Given the description of an element on the screen output the (x, y) to click on. 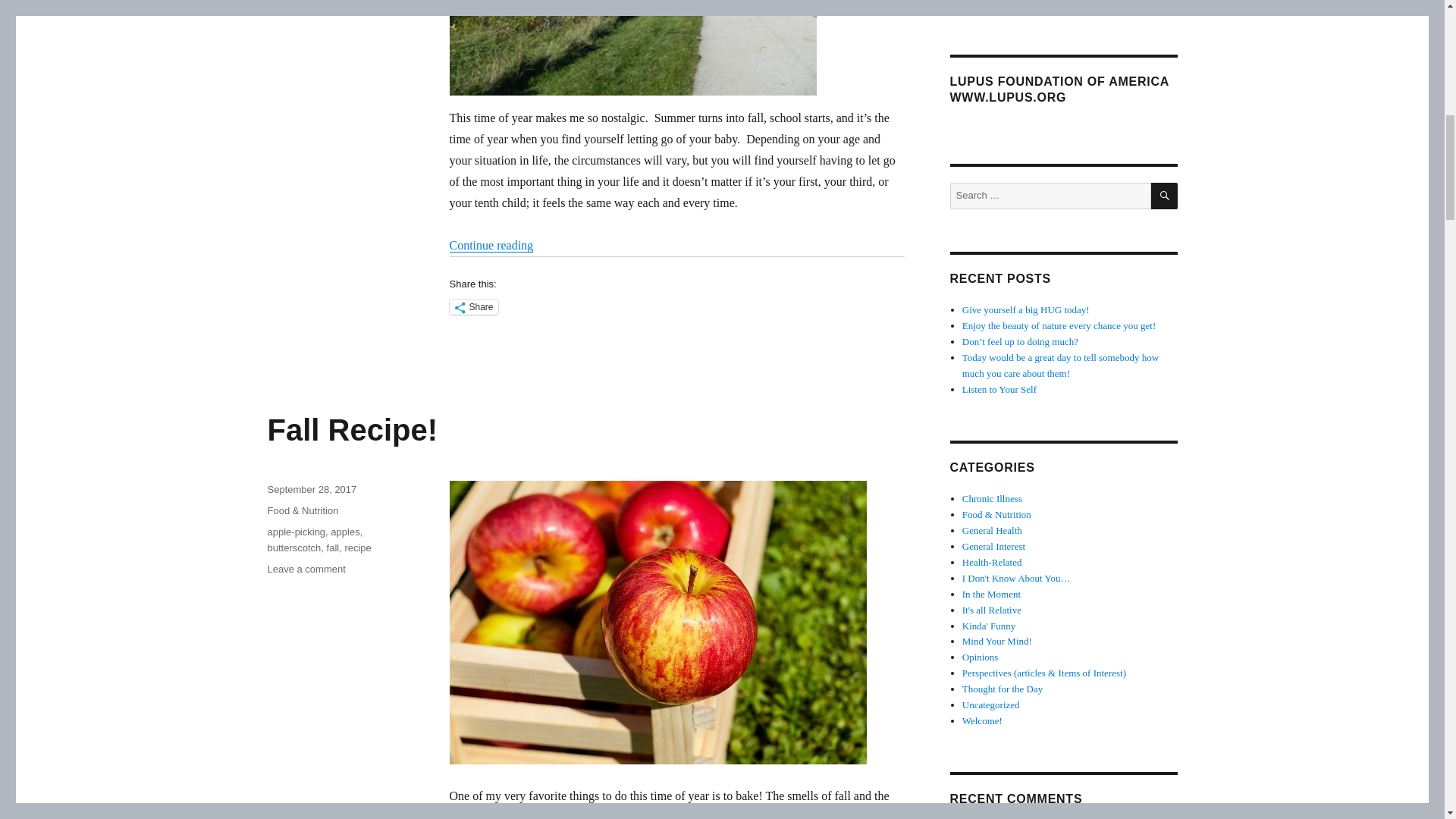
September 28, 2017 (311, 489)
recipe (357, 547)
apples (344, 531)
Share (472, 306)
Fall Recipe! (352, 429)
butterscotch (293, 547)
apple-picking (305, 568)
fall (295, 531)
